Given the description of an element on the screen output the (x, y) to click on. 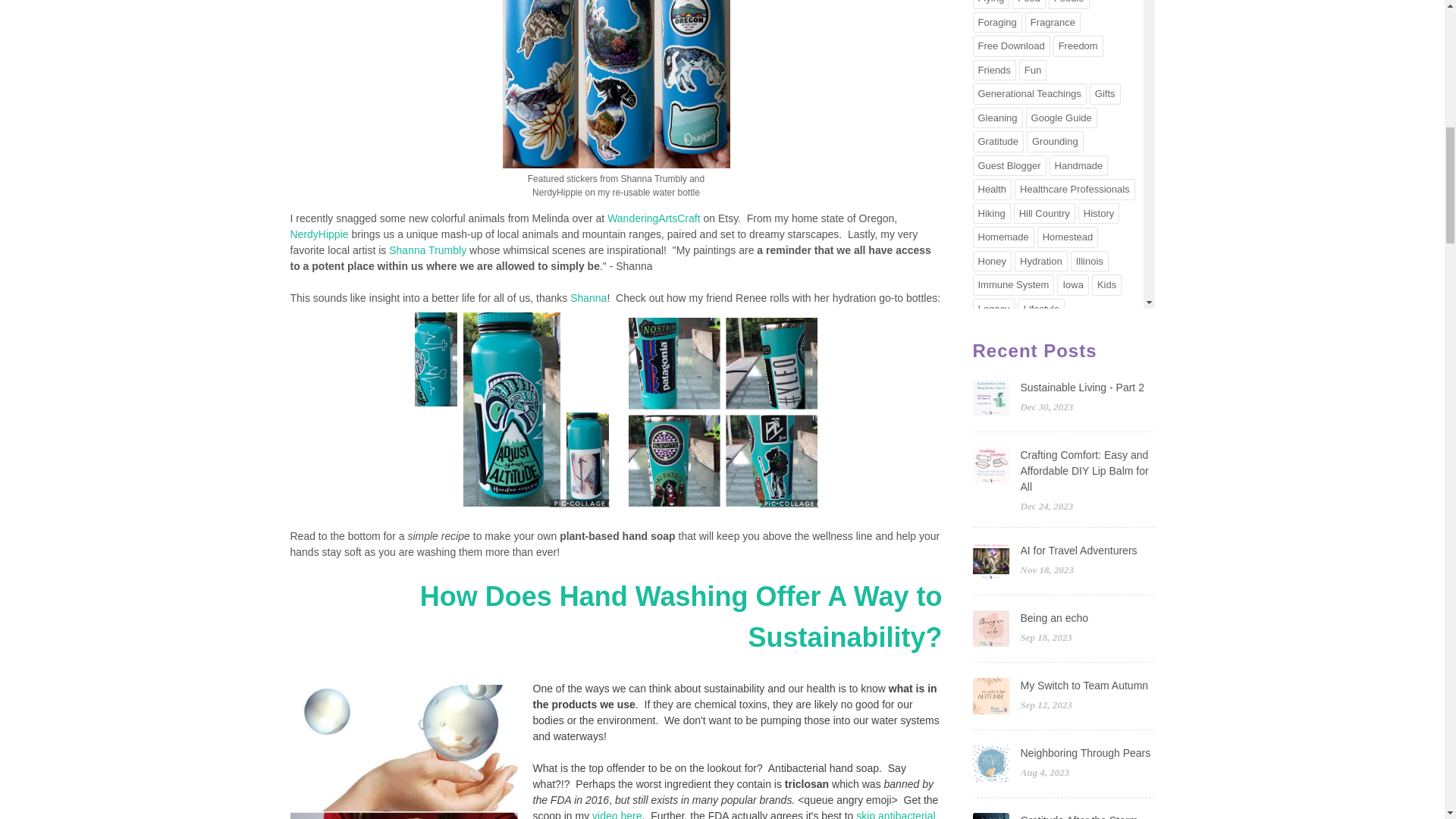
Shanna Trumbly (426, 250)
WanderingArtsCraft (653, 218)
skip antibacterial soaps (733, 814)
 video here (615, 814)
Shanna (588, 297)
NerdyHippie (318, 234)
